Given the description of an element on the screen output the (x, y) to click on. 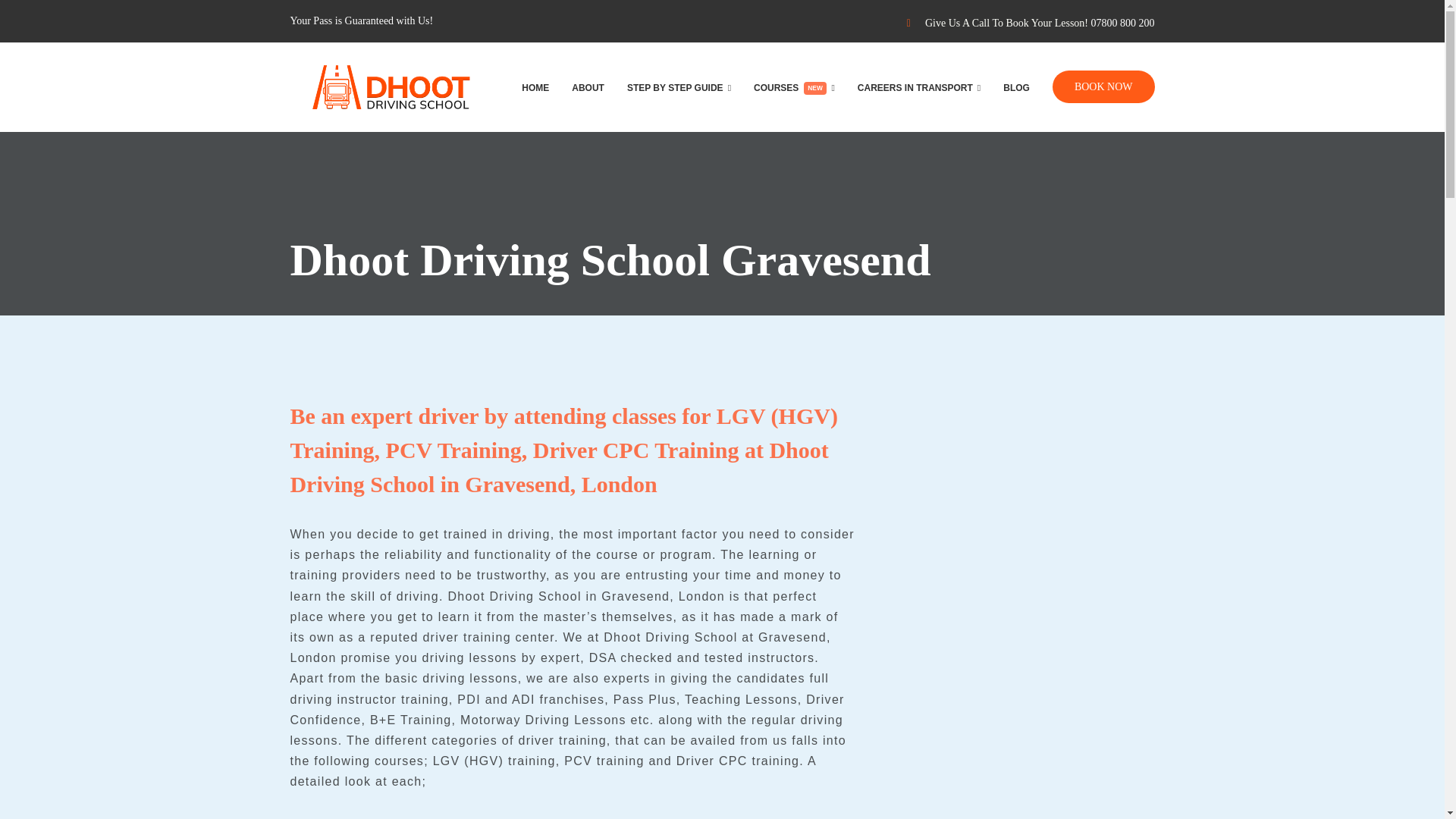
07800 800 200 (1122, 22)
STEP BY STEP GUIDE (678, 86)
ABOUT (794, 86)
